Given the description of an element on the screen output the (x, y) to click on. 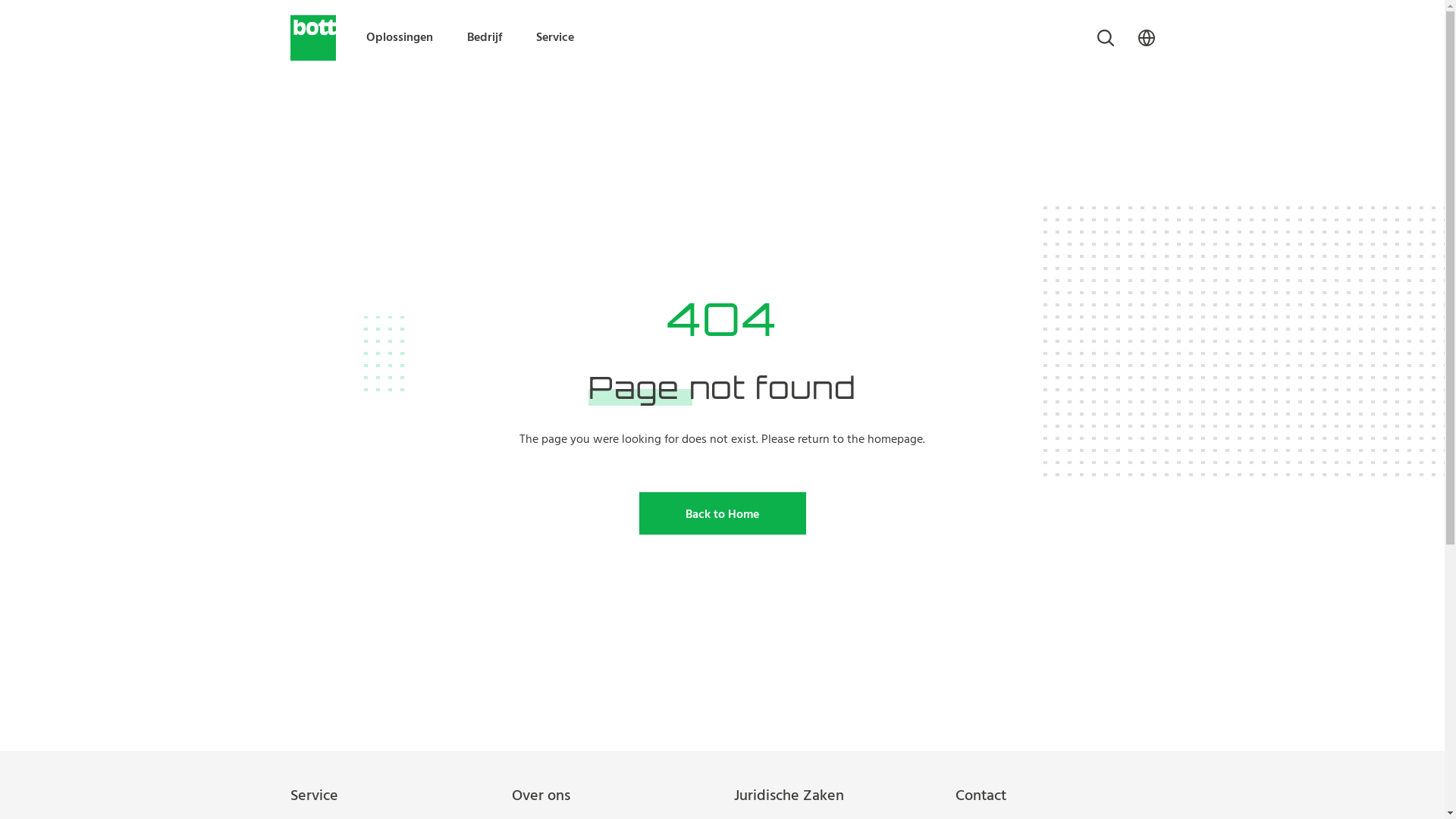
Oplossingen Element type: text (398, 37)
Back to Home Element type: text (721, 513)
Service Element type: text (554, 37)
Bedrijf Element type: text (484, 37)
